Given the description of an element on the screen output the (x, y) to click on. 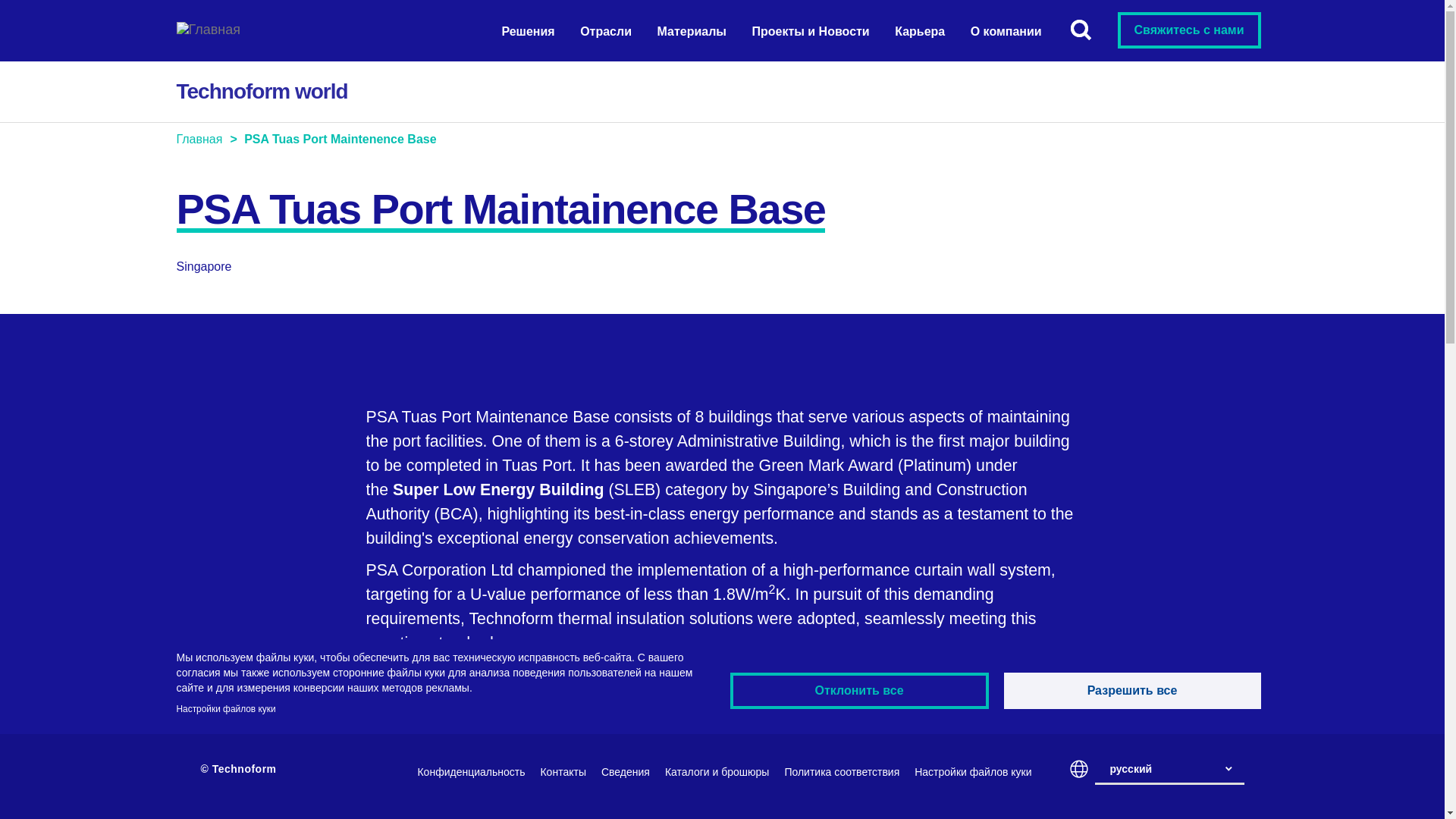
Compliance (841, 771)
